Given the description of an element on the screen output the (x, y) to click on. 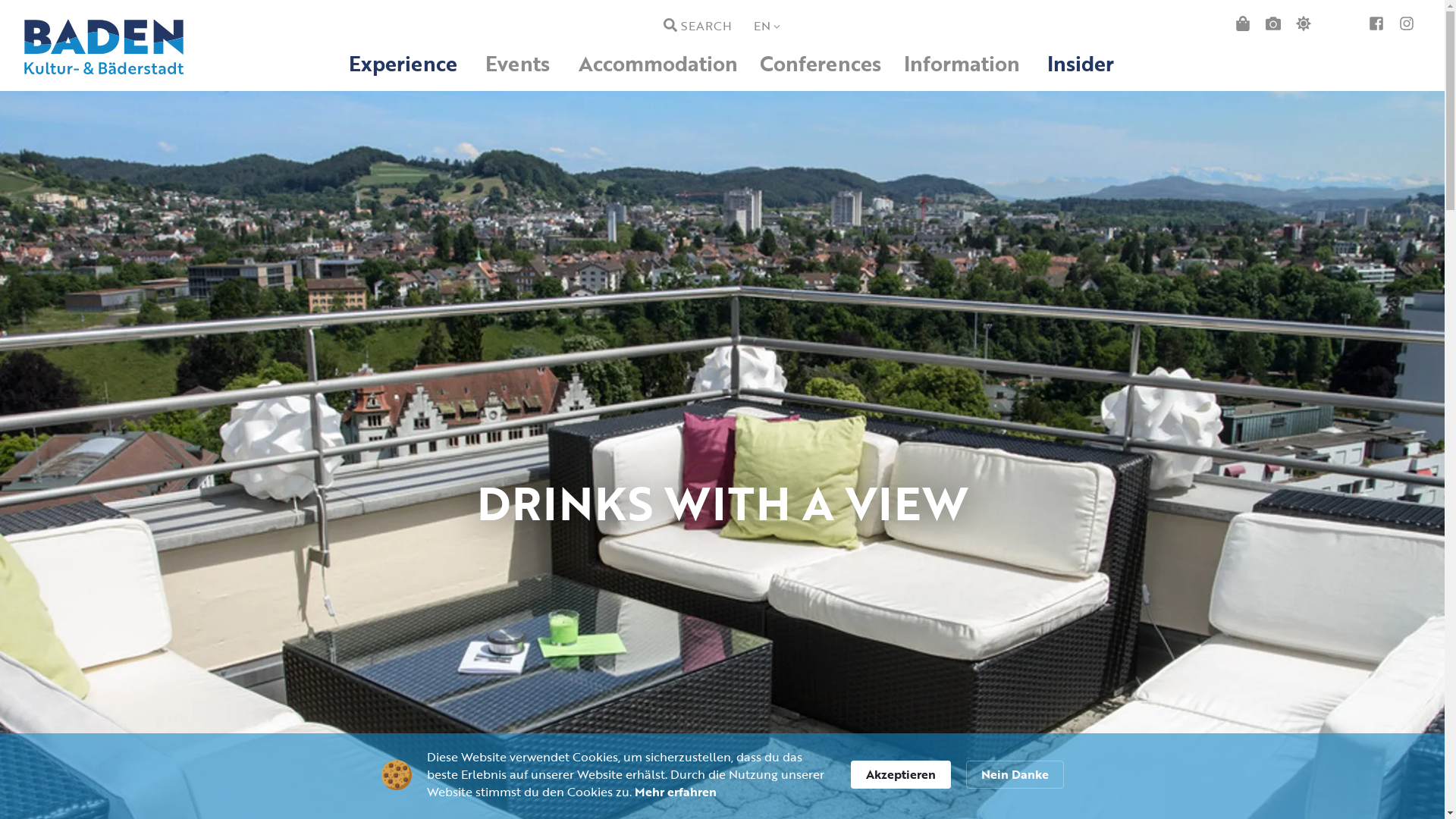
Events Element type: text (517, 63)
Weather Element type: hover (1303, 24)
Conferences Element type: text (820, 63)
Insider Element type: text (1080, 63)
Webcam Element type: hover (1272, 24)
Information Element type: text (961, 63)
Experience Element type: text (402, 63)
Shop Element type: hover (1242, 24)
Mehr erfahren Element type: text (674, 791)
Accommodation Element type: text (657, 63)
Baden auf Instagram Element type: hover (1406, 24)
Baden auf Facebook Element type: hover (1375, 24)
